Given the description of an element on the screen output the (x, y) to click on. 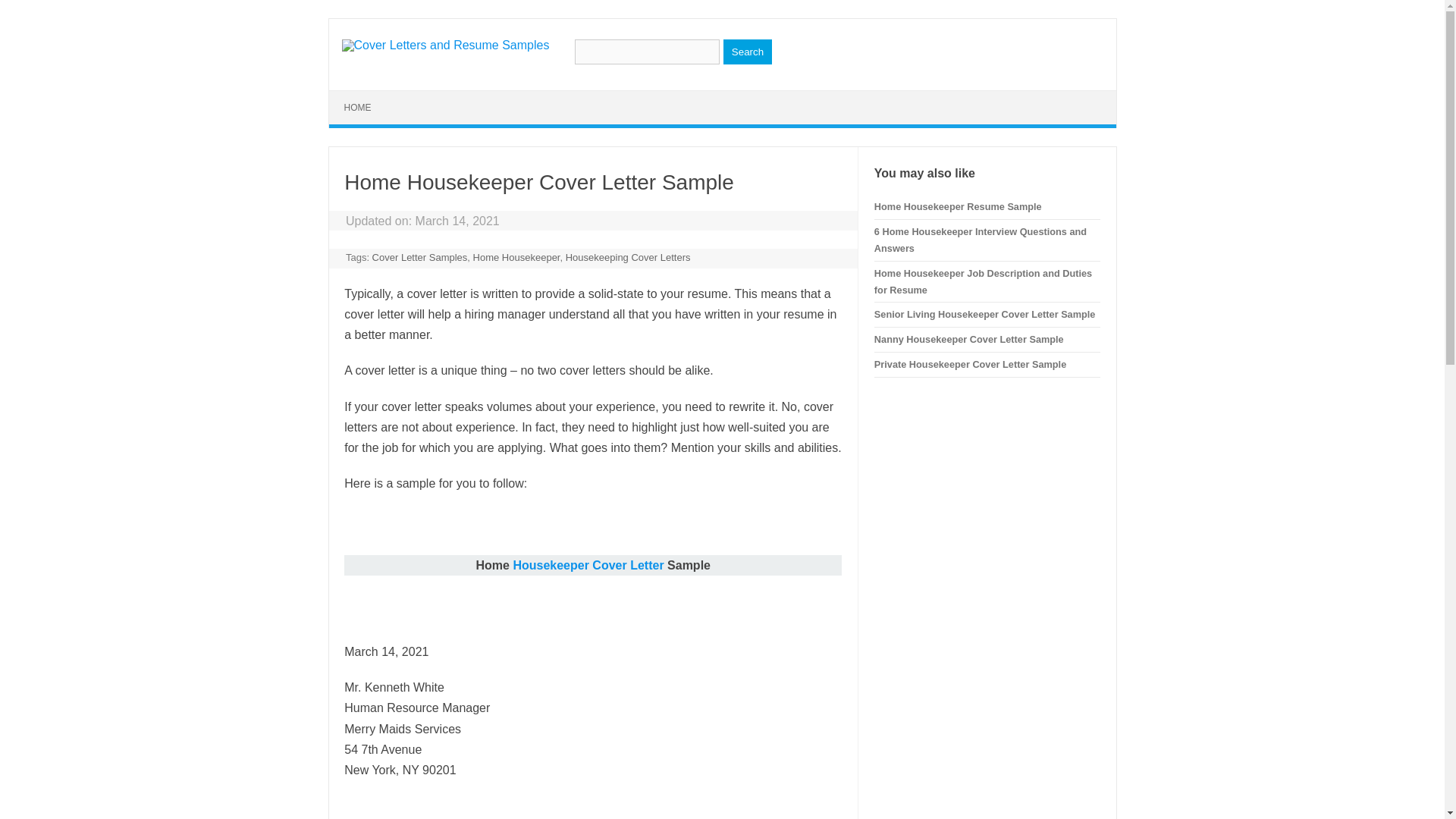
Housekeeping Cover Letters (628, 256)
Cover Letters and Resume Samples (444, 44)
HOME (358, 107)
Search (747, 51)
Cover Letter Samples (419, 256)
Nanny Housekeeper Cover Letter Sample (969, 338)
Search (747, 51)
Home Housekeeper Resume Sample (958, 206)
Housekeeper Cover Letter (589, 564)
6 Home Housekeeper Interview Questions and Answers (980, 239)
Home Housekeeper (516, 256)
Senior Living Housekeeper Cover Letter Sample (985, 314)
Private Housekeeper Cover Letter Sample (970, 364)
